Given the description of an element on the screen output the (x, y) to click on. 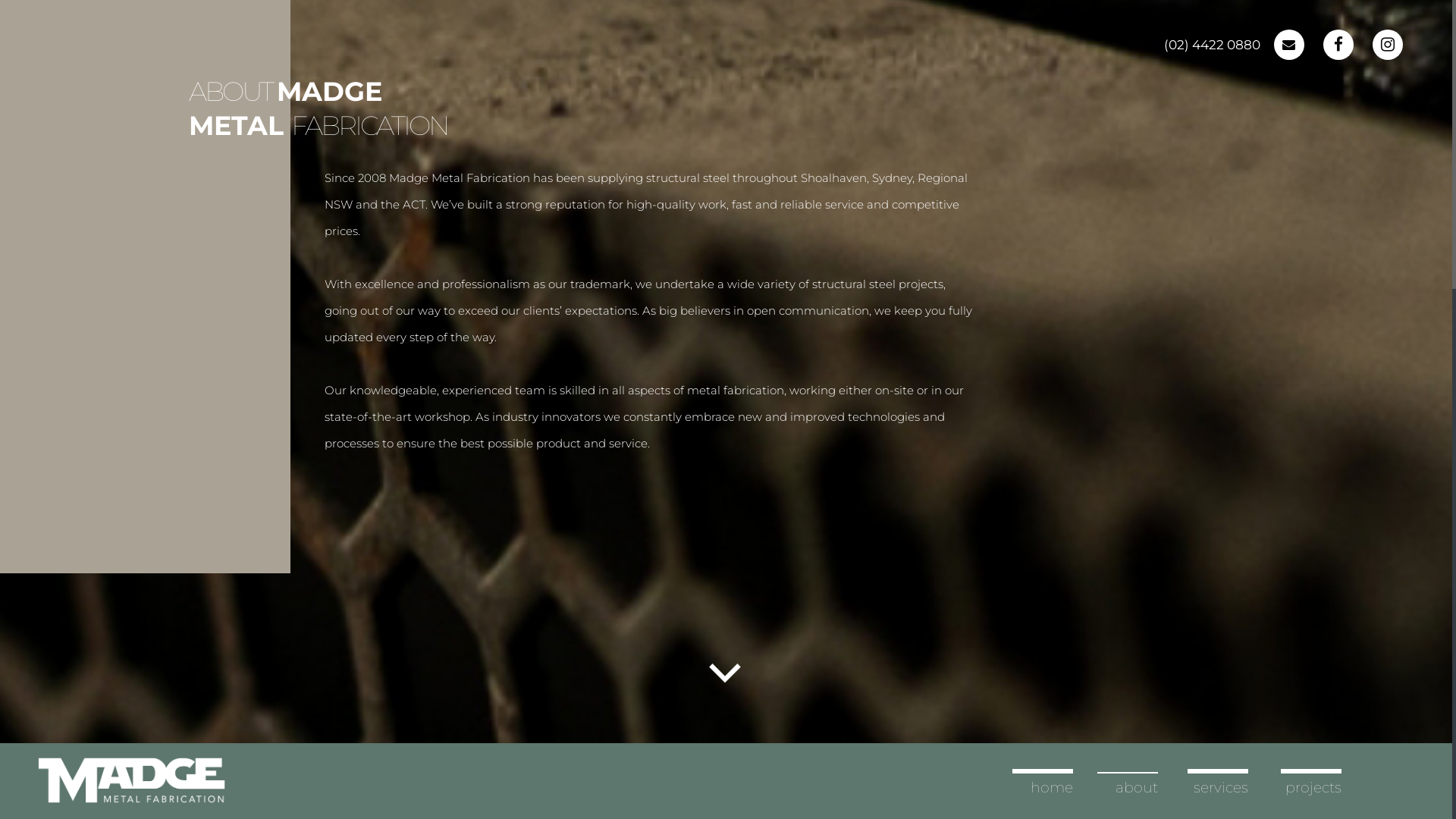
about Element type: text (1136, 787)
projects Element type: text (1313, 787)
(02) 4422 0880 Element type: text (1212, 44)
home Element type: text (1051, 787)
services Element type: text (1220, 787)
